Given the description of an element on the screen output the (x, y) to click on. 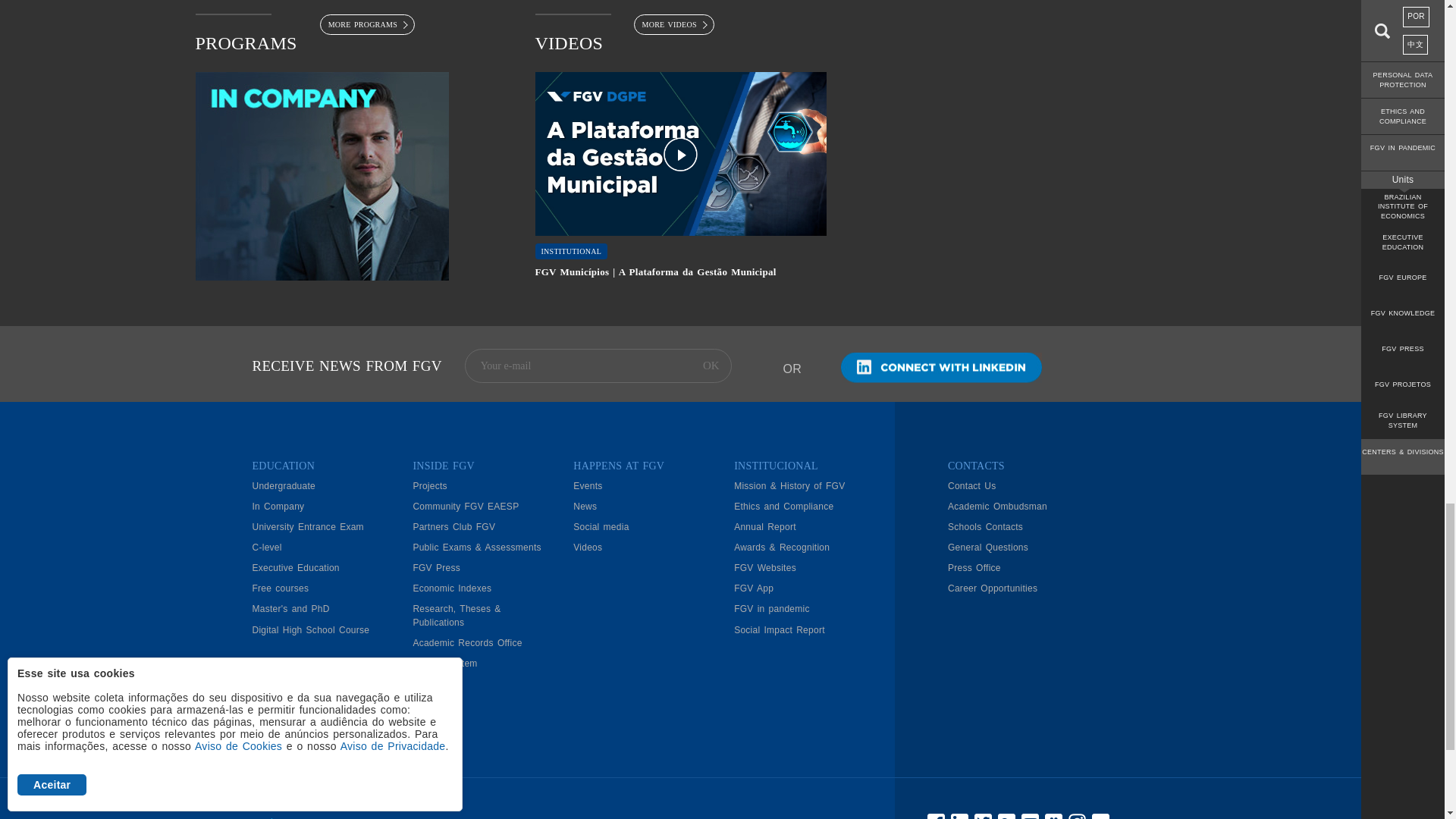
LinkedIn (940, 367)
ok (710, 365)
